Given the description of an element on the screen output the (x, y) to click on. 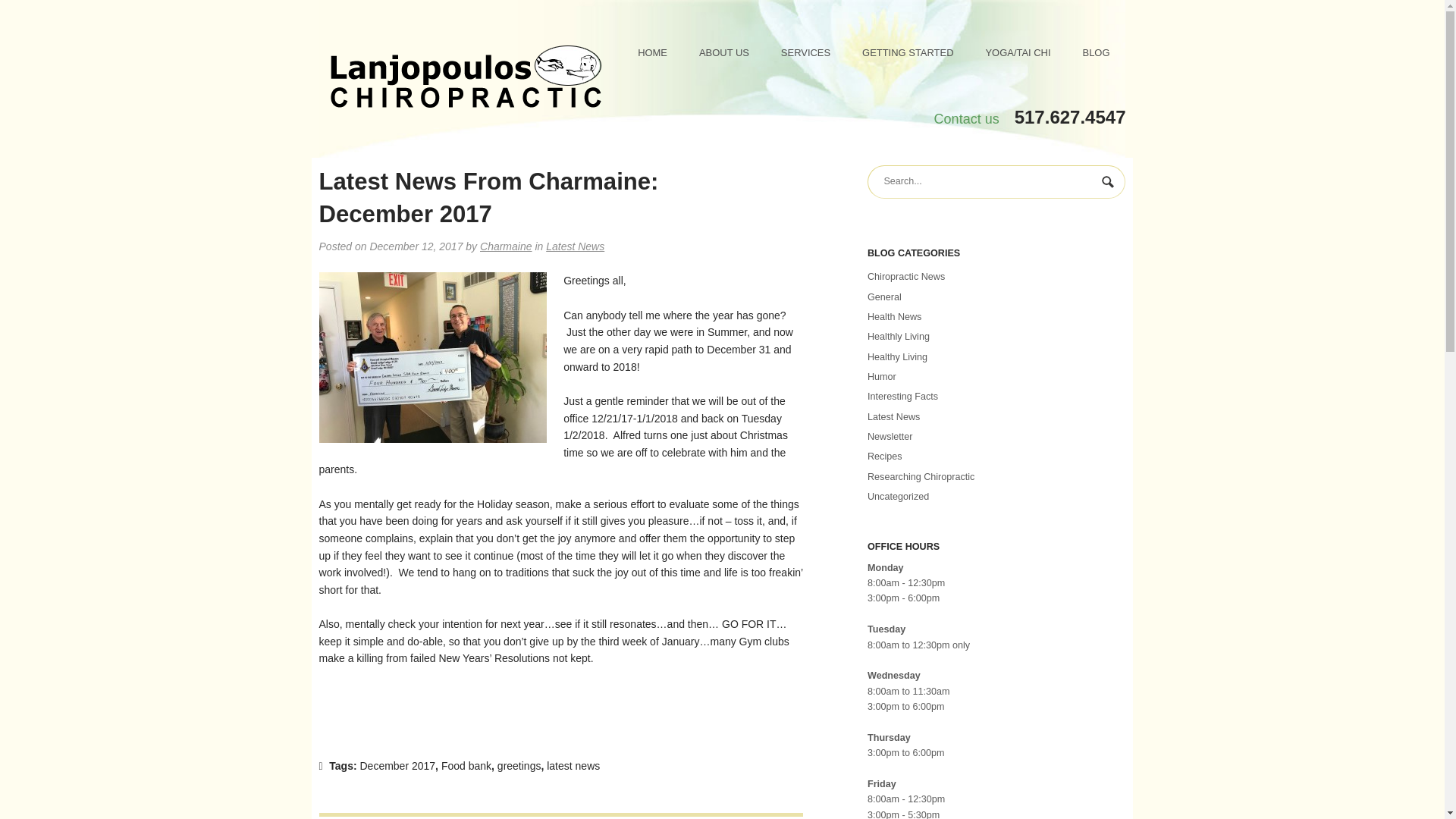
Healthy Living (897, 357)
latest news (573, 766)
Contact us (966, 118)
Search (1109, 183)
Healthly Living (898, 336)
Posts by Charmaine (505, 246)
Health News (894, 317)
Search (1109, 183)
GETTING STARTED (907, 51)
Chiropractic News (905, 276)
Newsletter (889, 436)
Latest News (575, 246)
December 2017 (397, 766)
Uncategorized (897, 496)
Chiropractics, Yoga, Tai Chi, Healthy Living (465, 79)
